Given the description of an element on the screen output the (x, y) to click on. 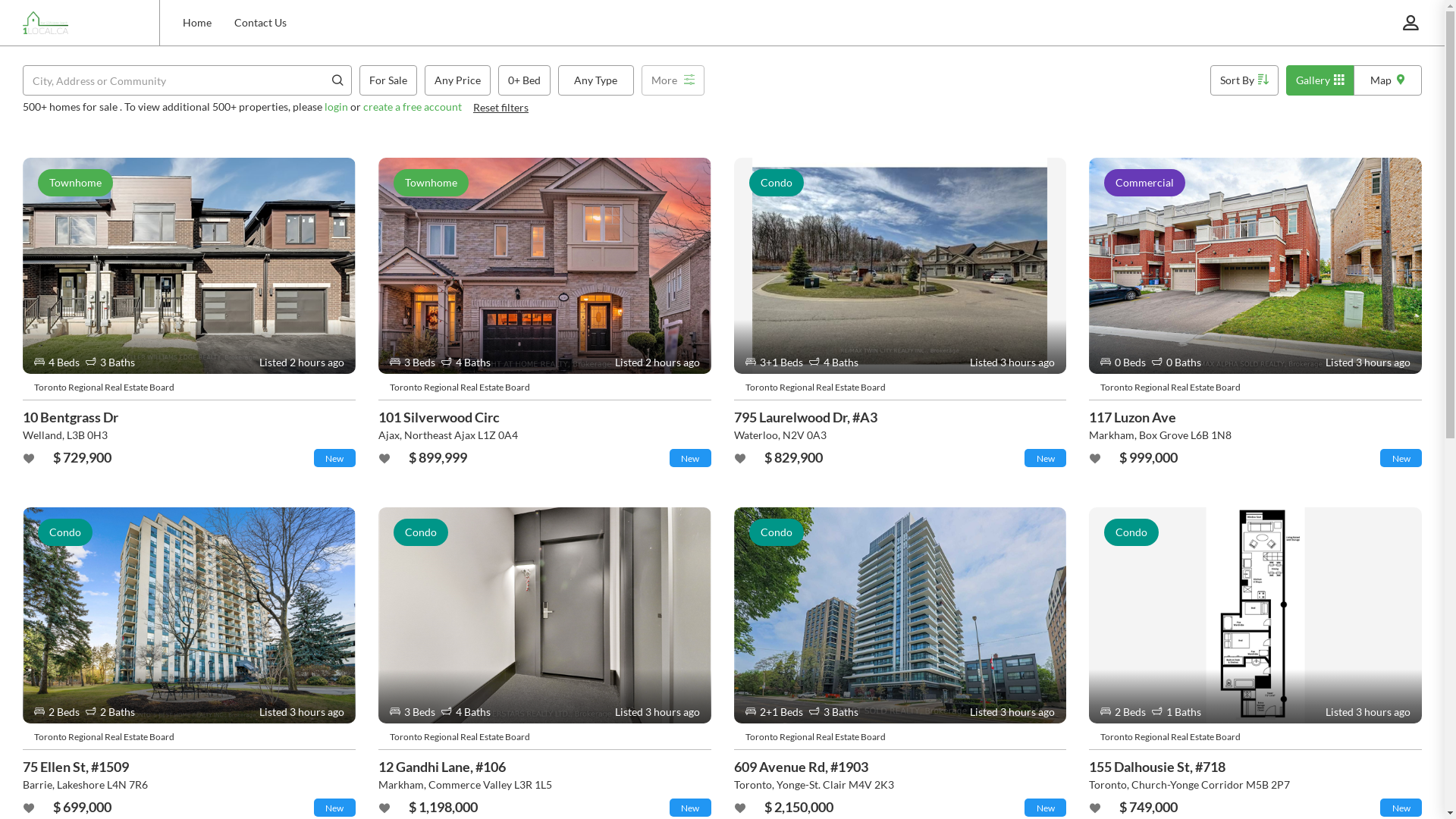
Contact Us Element type: text (260, 22)
Home Element type: text (196, 22)
For Sale Element type: text (388, 80)
0+ Bed Element type: text (524, 80)
Any Price Element type: text (457, 80)
Any Type Element type: text (595, 80)
Sort By Element type: text (1244, 80)
More Element type: text (672, 80)
Gallery Element type: text (1320, 80)
Map Element type: text (1387, 80)
Reset filters Element type: text (500, 107)
